Given the description of an element on the screen output the (x, y) to click on. 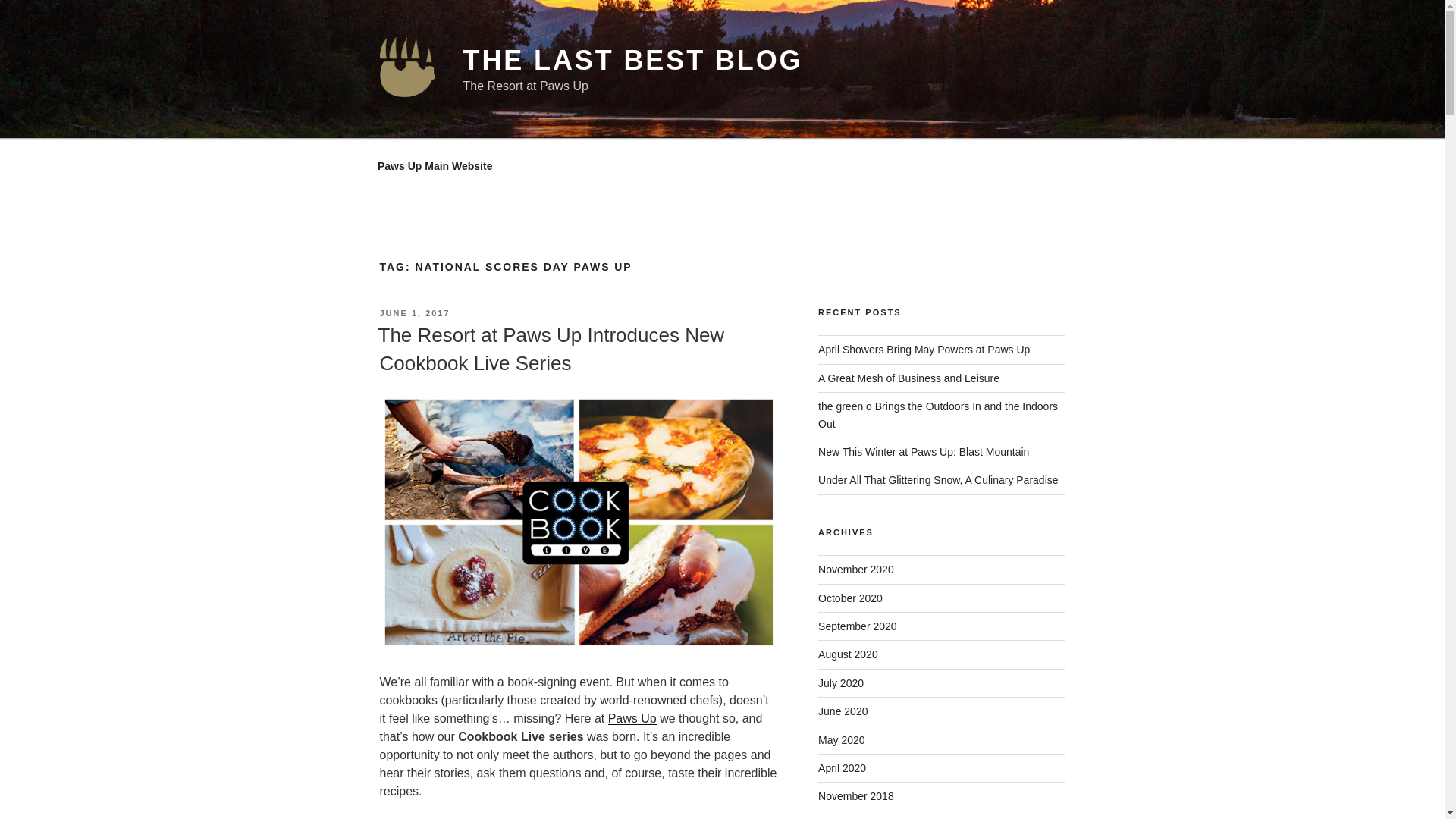
the green o Brings the Outdoors In and the Indoors Out (938, 414)
THE LAST BEST BLOG (633, 60)
November 2018 (855, 796)
April 2020 (842, 767)
July 2020 (840, 683)
September 2020 (857, 625)
Under All That Glittering Snow, A Culinary Paradise (938, 480)
Paws Up Main Website (434, 165)
May 2020 (841, 739)
Paws Up (632, 717)
